Given the description of an element on the screen output the (x, y) to click on. 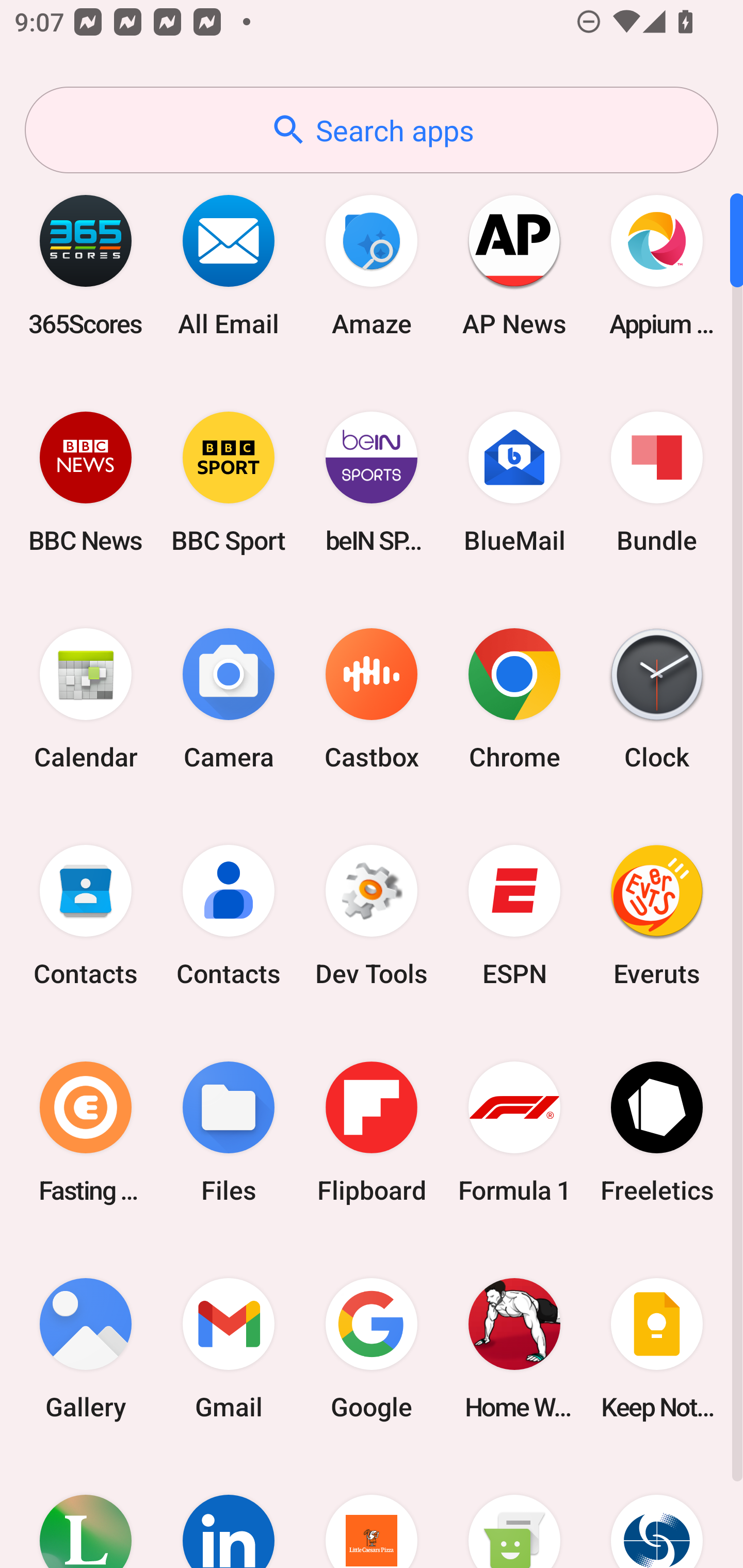
  Search apps (371, 130)
365Scores (85, 264)
All Email (228, 264)
Amaze (371, 264)
AP News (514, 264)
Appium Settings (656, 264)
BBC News (85, 482)
BBC Sport (228, 482)
beIN SPORTS (371, 482)
BlueMail (514, 482)
Bundle (656, 482)
Calendar (85, 699)
Camera (228, 699)
Castbox (371, 699)
Chrome (514, 699)
Clock (656, 699)
Contacts (85, 915)
Contacts (228, 915)
Dev Tools (371, 915)
ESPN (514, 915)
Everuts (656, 915)
Fasting Coach (85, 1131)
Files (228, 1131)
Flipboard (371, 1131)
Formula 1 (514, 1131)
Freeletics (656, 1131)
Gallery (85, 1348)
Gmail (228, 1348)
Google (371, 1348)
Home Workout (514, 1348)
Keep Notes (656, 1348)
